Given the description of an element on the screen output the (x, y) to click on. 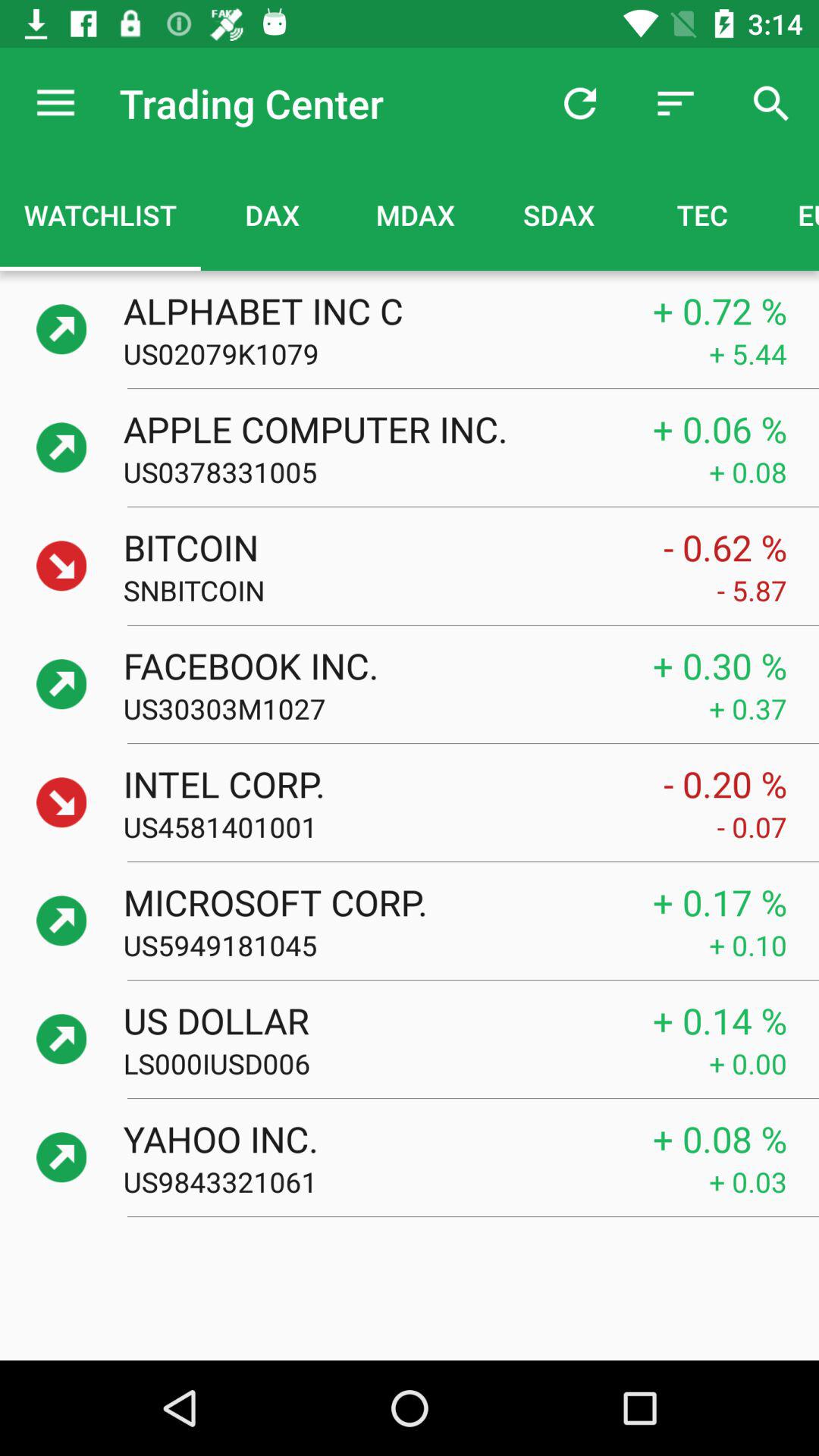
click the item below the alphabet inc c icon (416, 353)
